Given the description of an element on the screen output the (x, y) to click on. 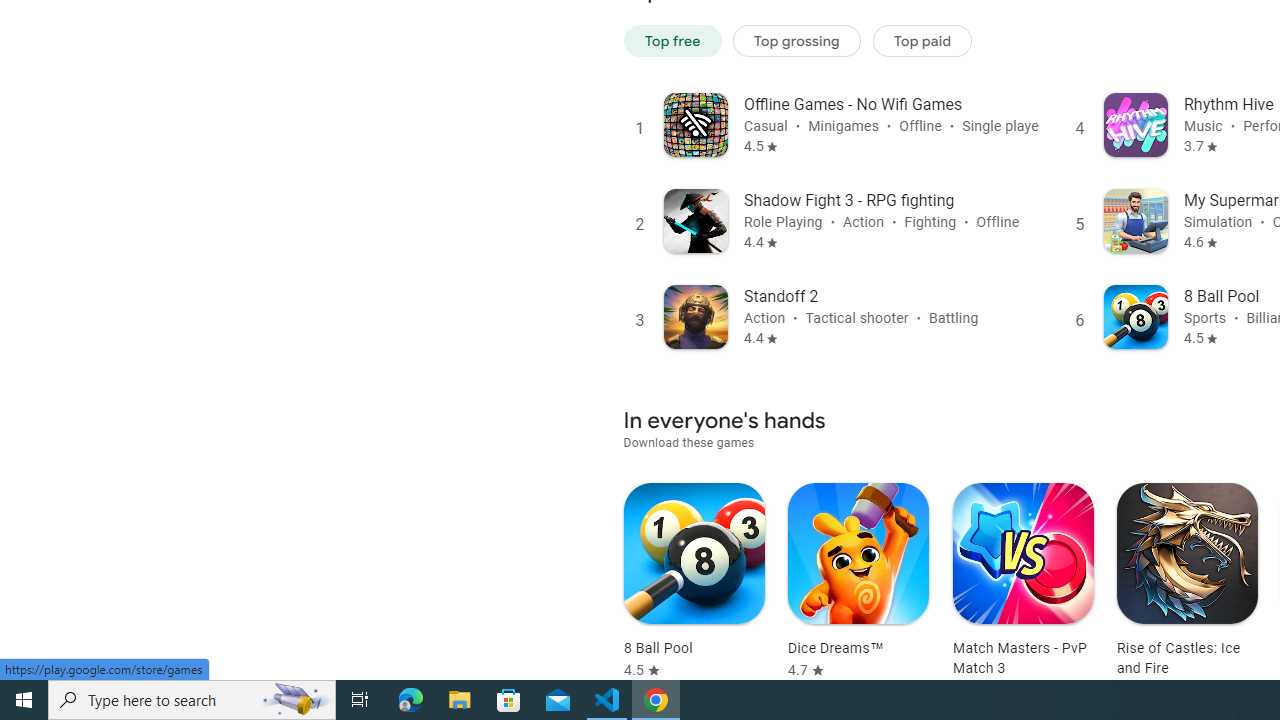
8 Ball Pool Rated 4.5 stars out of five stars (694, 581)
Top paid (922, 39)
Top free (672, 39)
Top grossing (797, 39)
